Given the description of an element on the screen output the (x, y) to click on. 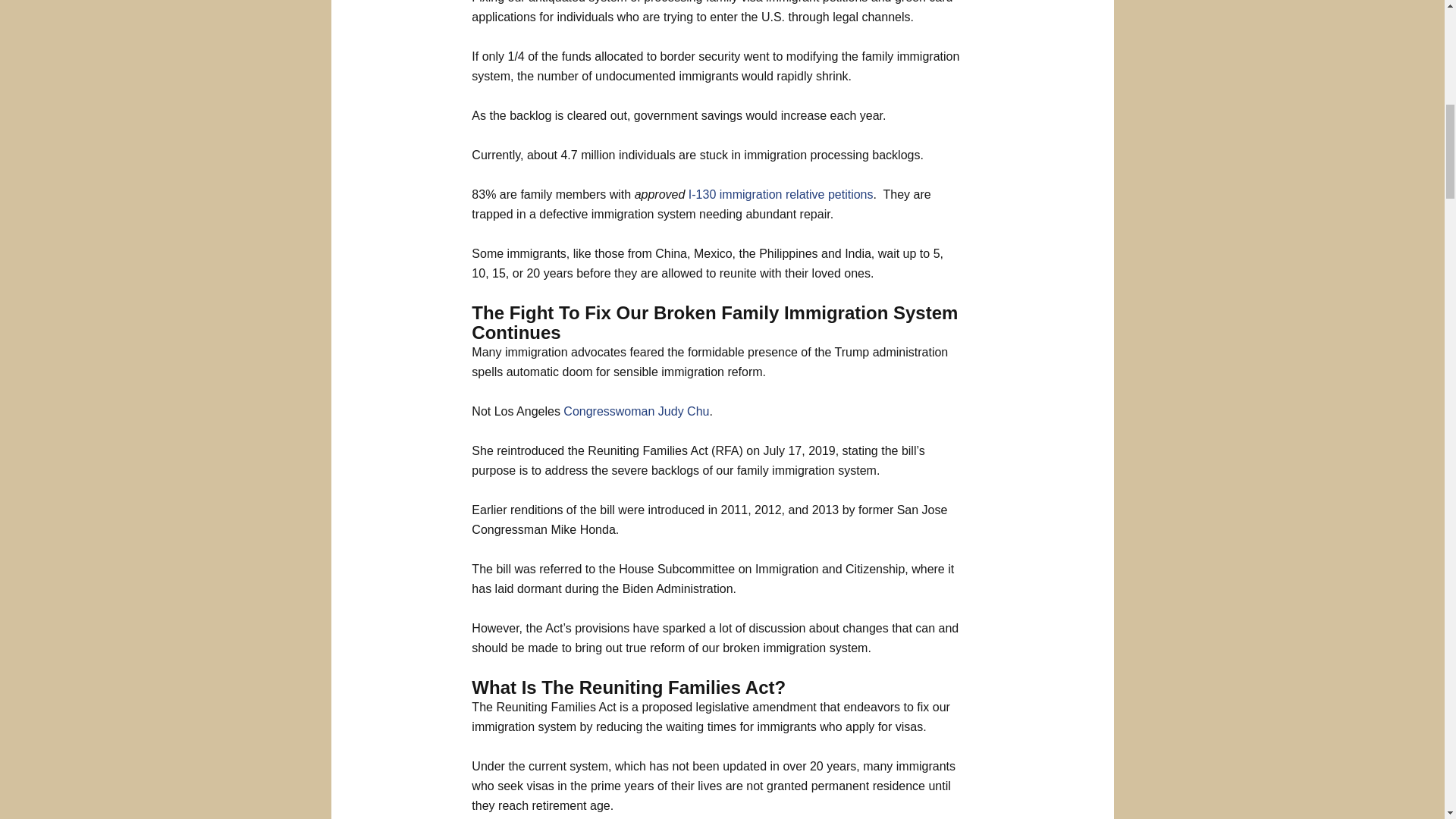
I-130 immigration relative petitions (780, 194)
Congresswoman Judy Chu (636, 410)
